Given the description of an element on the screen output the (x, y) to click on. 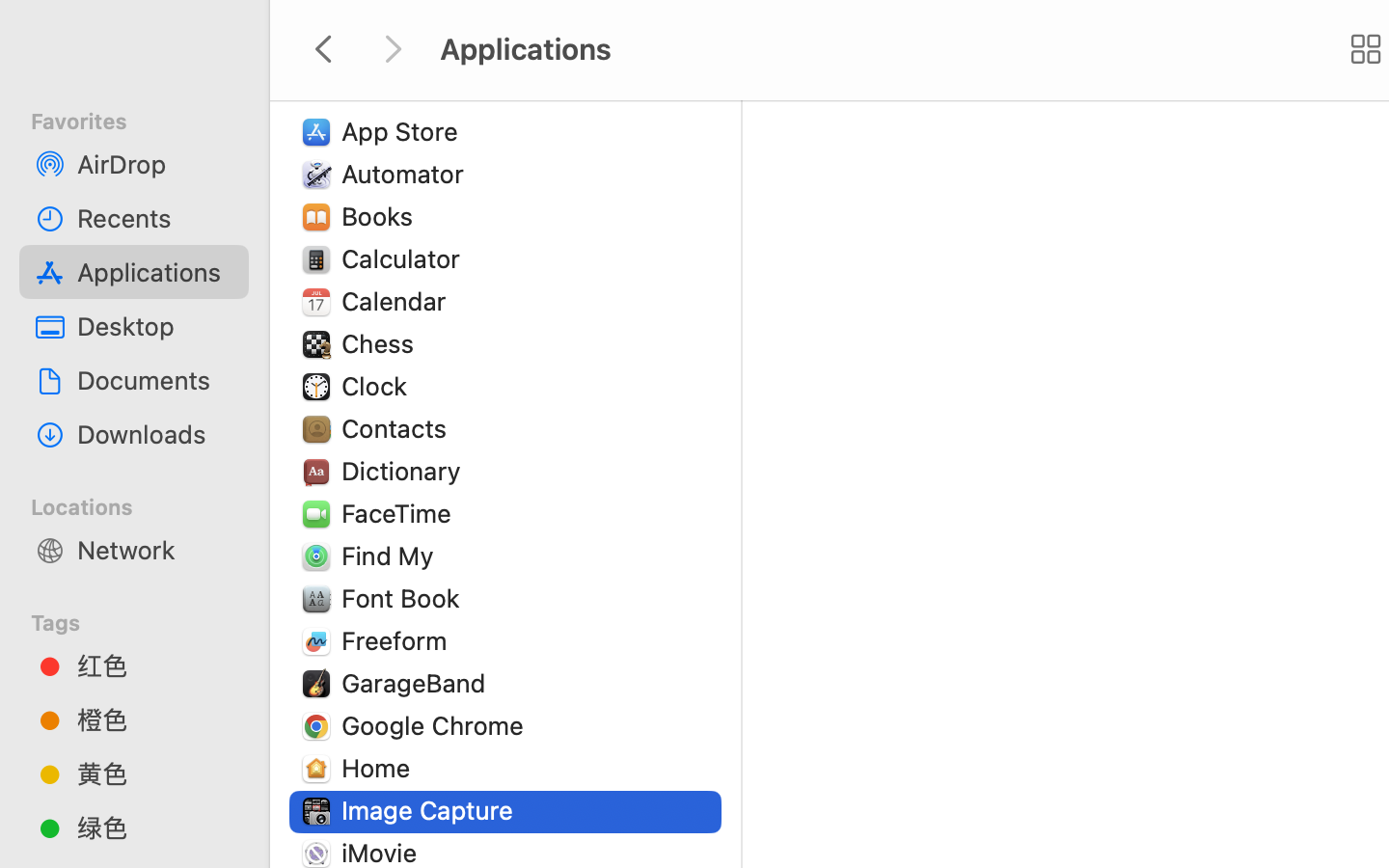
GarageBand Element type: AXTextField (417, 682)
Home Element type: AXTextField (379, 767)
Calculator Element type: AXTextField (404, 258)
Books Element type: AXTextField (381, 215)
Tags Element type: AXStaticText (145, 619)
